Given the description of an element on the screen output the (x, y) to click on. 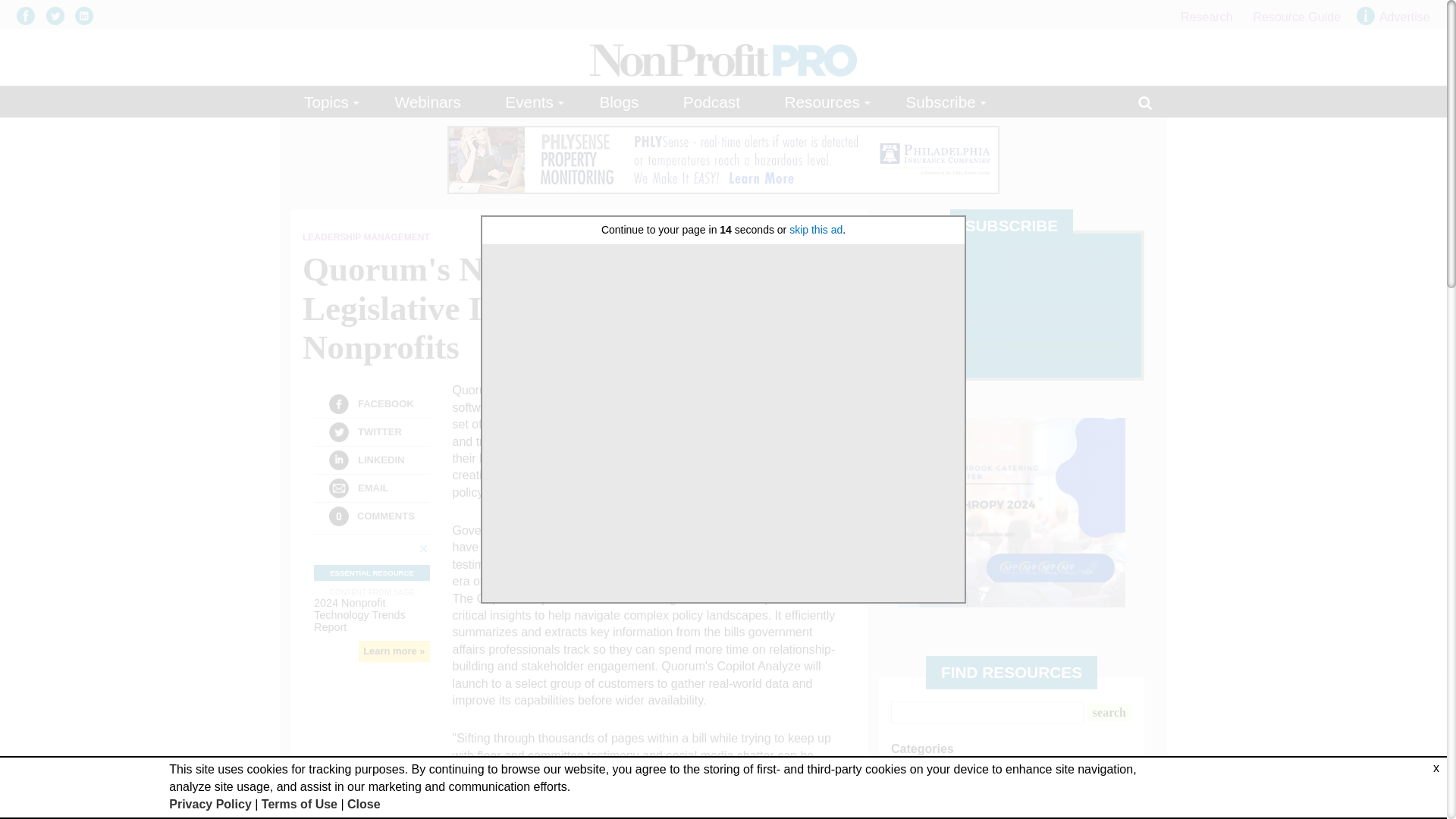
Resource Guide (1296, 16)
Email Link (339, 487)
Twitter (339, 432)
3rd party ad content (722, 160)
Opens in a new window (58, 15)
3rd party ad content (1011, 512)
Topics (327, 101)
Research (1205, 16)
LinkedIn (339, 460)
